Given the description of an element on the screen output the (x, y) to click on. 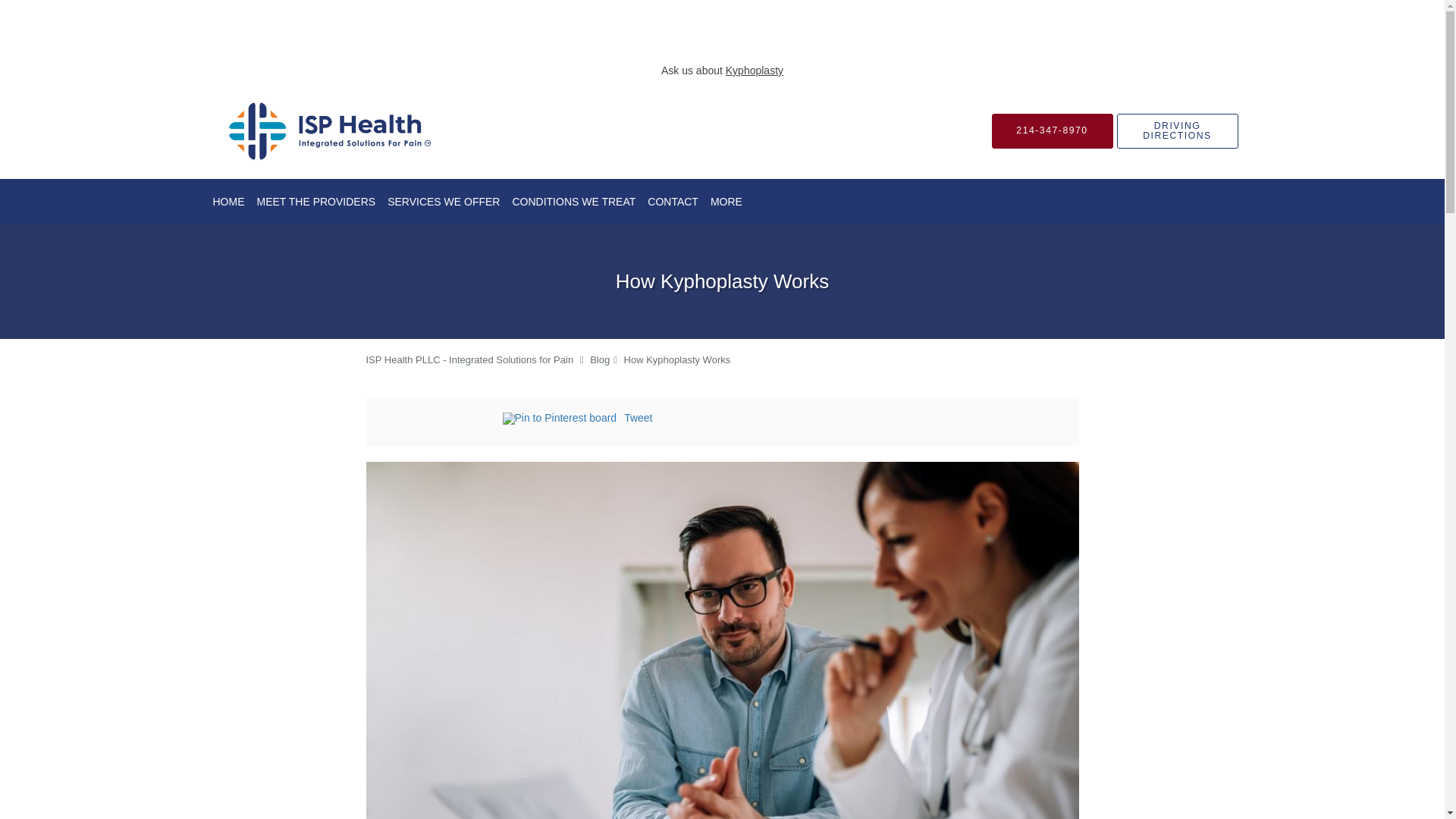
MEET THE PROVIDERS (315, 201)
214-347-8970 (1052, 130)
HOME (228, 201)
Facebook social button (441, 420)
SERVICES WE OFFER (443, 201)
CONDITIONS WE TREAT (573, 201)
CONTACT (673, 201)
DRIVING DIRECTIONS (1176, 130)
MORE (726, 201)
Kyphoplasty (754, 70)
